Given the description of an element on the screen output the (x, y) to click on. 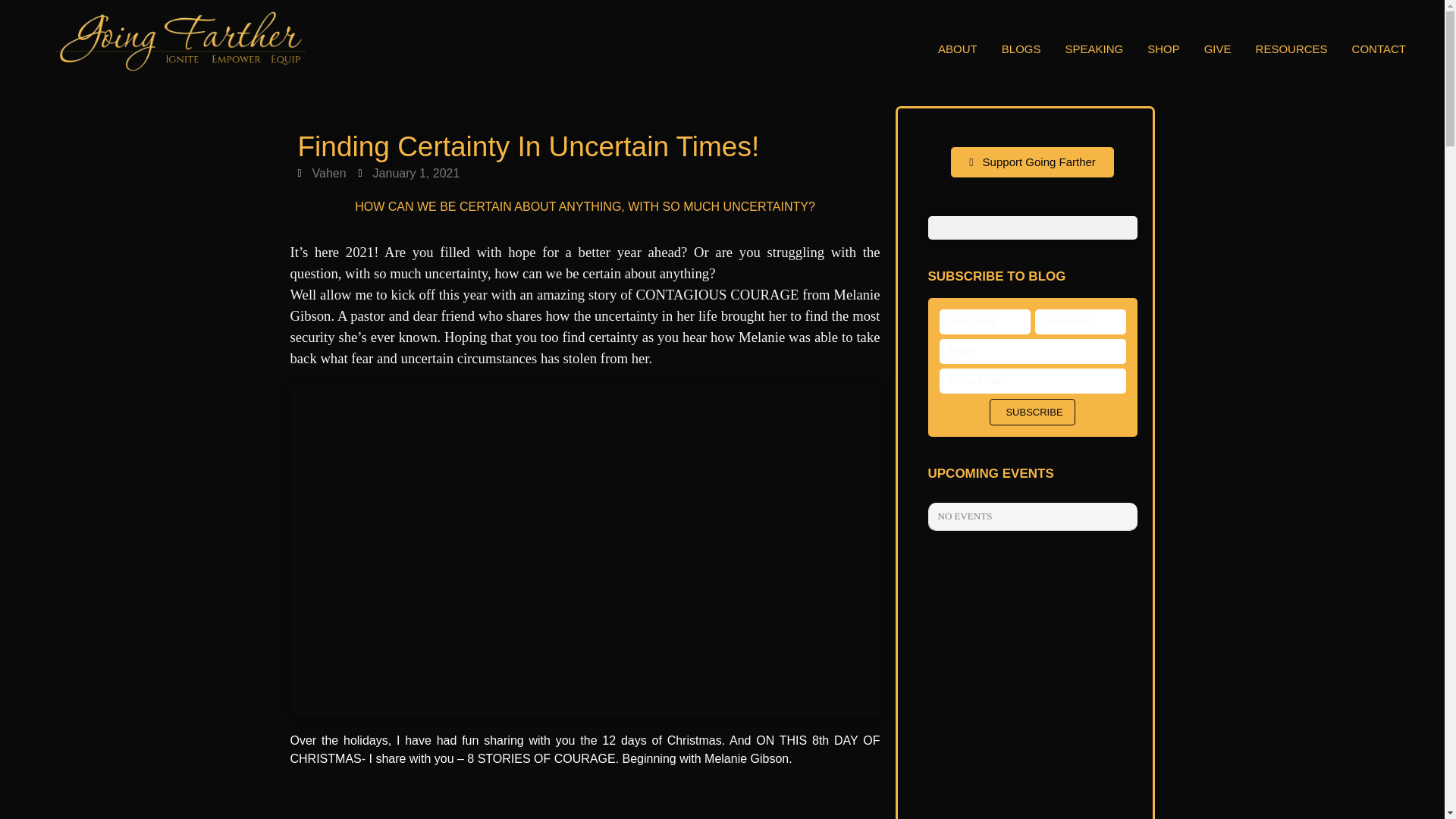
ABOUT (957, 49)
SHOP (1163, 49)
RESOURCES (1291, 49)
CONTACT (1378, 49)
SPEAKING (1094, 49)
BLOGS (1020, 49)
GIVE (1217, 49)
